Given the description of an element on the screen output the (x, y) to click on. 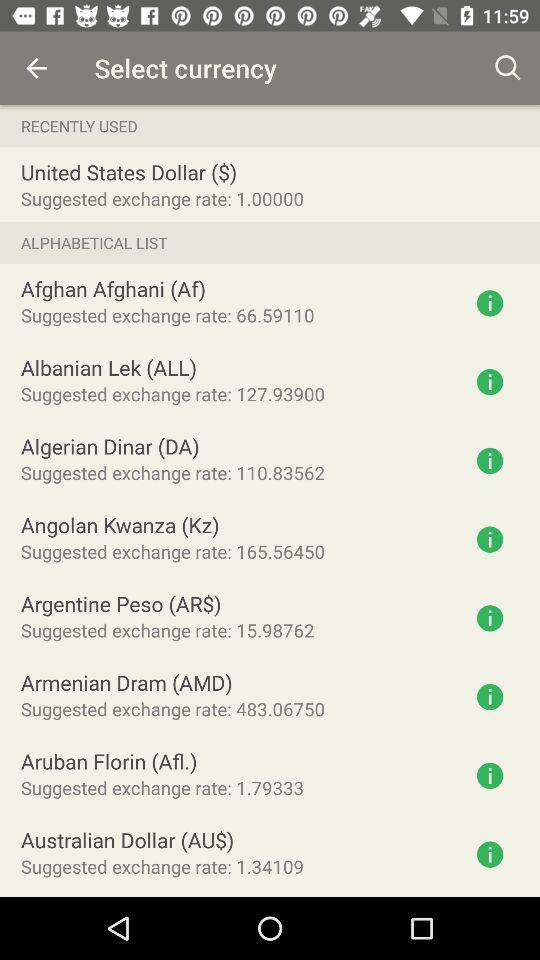
get information (490, 539)
